Given the description of an element on the screen output the (x, y) to click on. 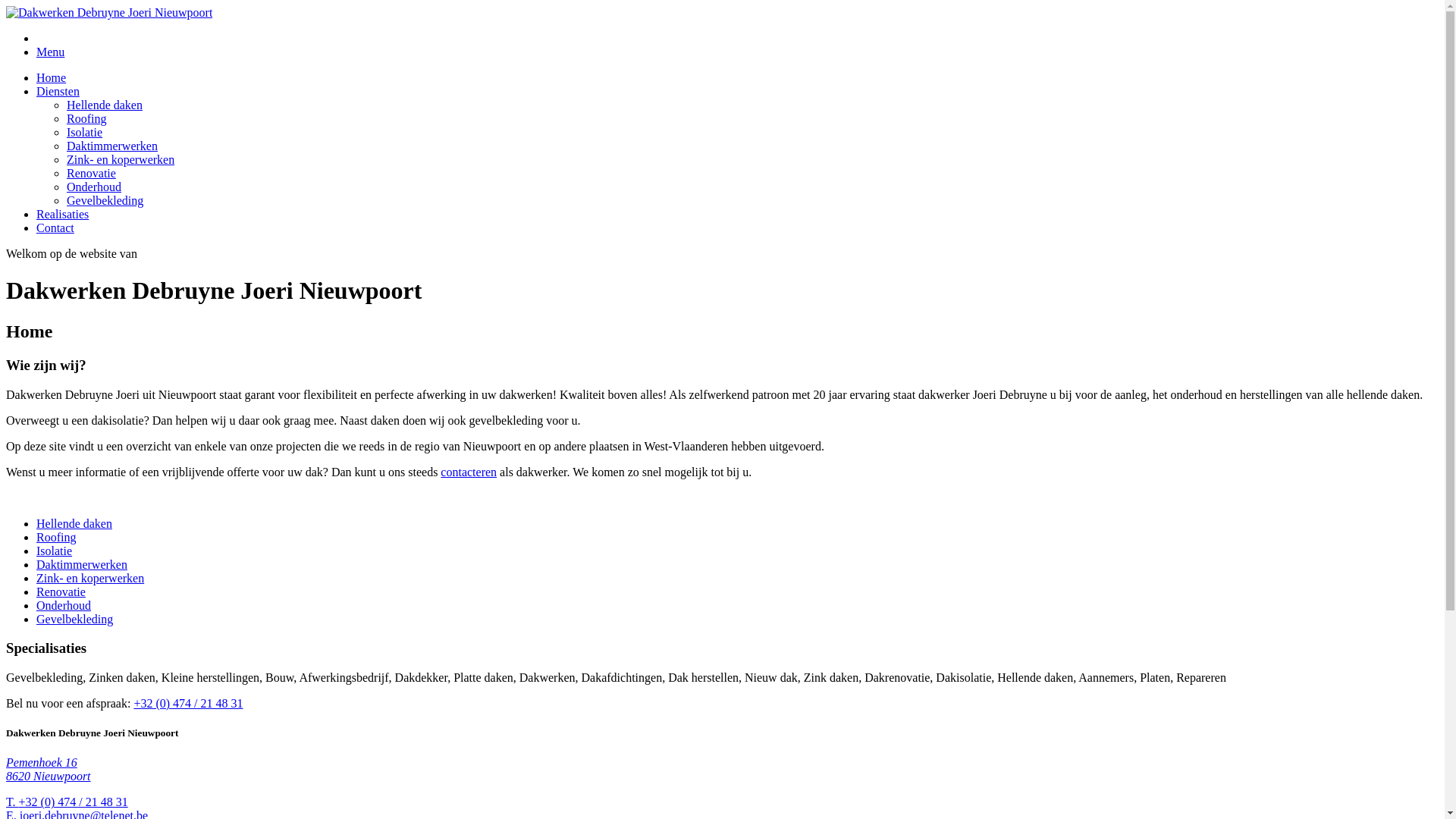
Hellende daken Element type: text (74, 523)
Pemenhoek 16
8620 Nieuwpoort Element type: text (48, 769)
Realisaties Element type: text (62, 213)
Roofing Element type: text (55, 536)
Renovatie Element type: text (91, 172)
Diensten Element type: text (57, 90)
Onderhoud Element type: text (63, 605)
Hellende daken Element type: text (104, 104)
Isolatie Element type: text (84, 131)
Gevelbekleding Element type: text (104, 200)
Daktimmerwerken Element type: text (111, 145)
contacteren Element type: text (468, 471)
+32 (0) 474 / 21 48 31 Element type: text (187, 702)
Zink- en koperwerken Element type: text (90, 577)
Menu Element type: text (50, 51)
Home Element type: text (50, 77)
Zink- en koperwerken Element type: text (120, 159)
Daktimmerwerken Element type: text (81, 564)
Roofing Element type: text (86, 118)
Isolatie Element type: text (54, 550)
Onderhoud Element type: text (93, 186)
Dakwerken Debruyne Joeri Nieuwpoort Element type: hover (109, 12)
Renovatie Element type: text (60, 591)
Contact Element type: text (55, 227)
Gevelbekleding Element type: text (74, 618)
T. +32 (0) 474 / 21 48 31 Element type: text (67, 801)
